Given the description of an element on the screen output the (x, y) to click on. 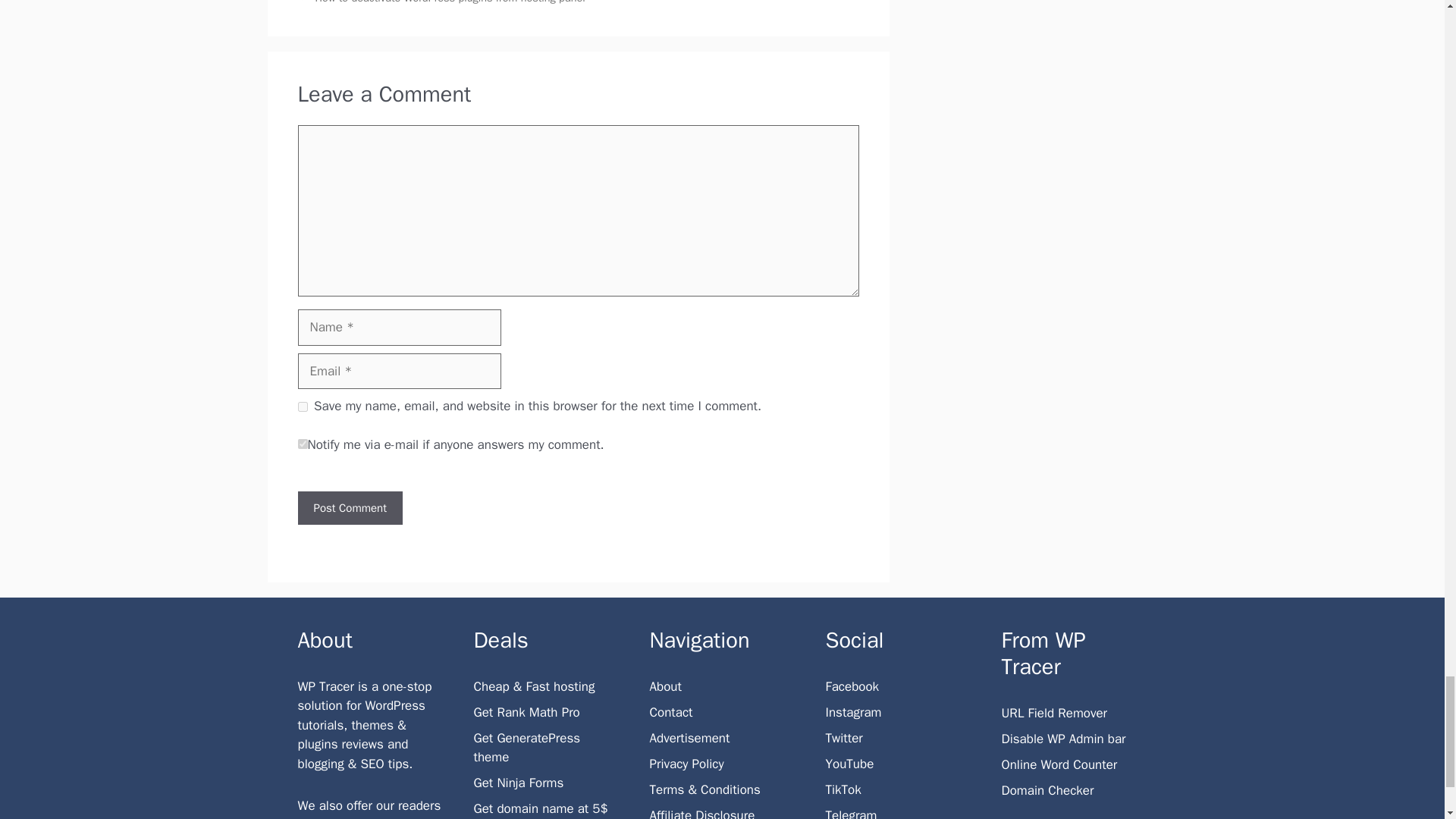
yes (302, 406)
on (302, 443)
Post Comment (349, 508)
